Given the description of an element on the screen output the (x, y) to click on. 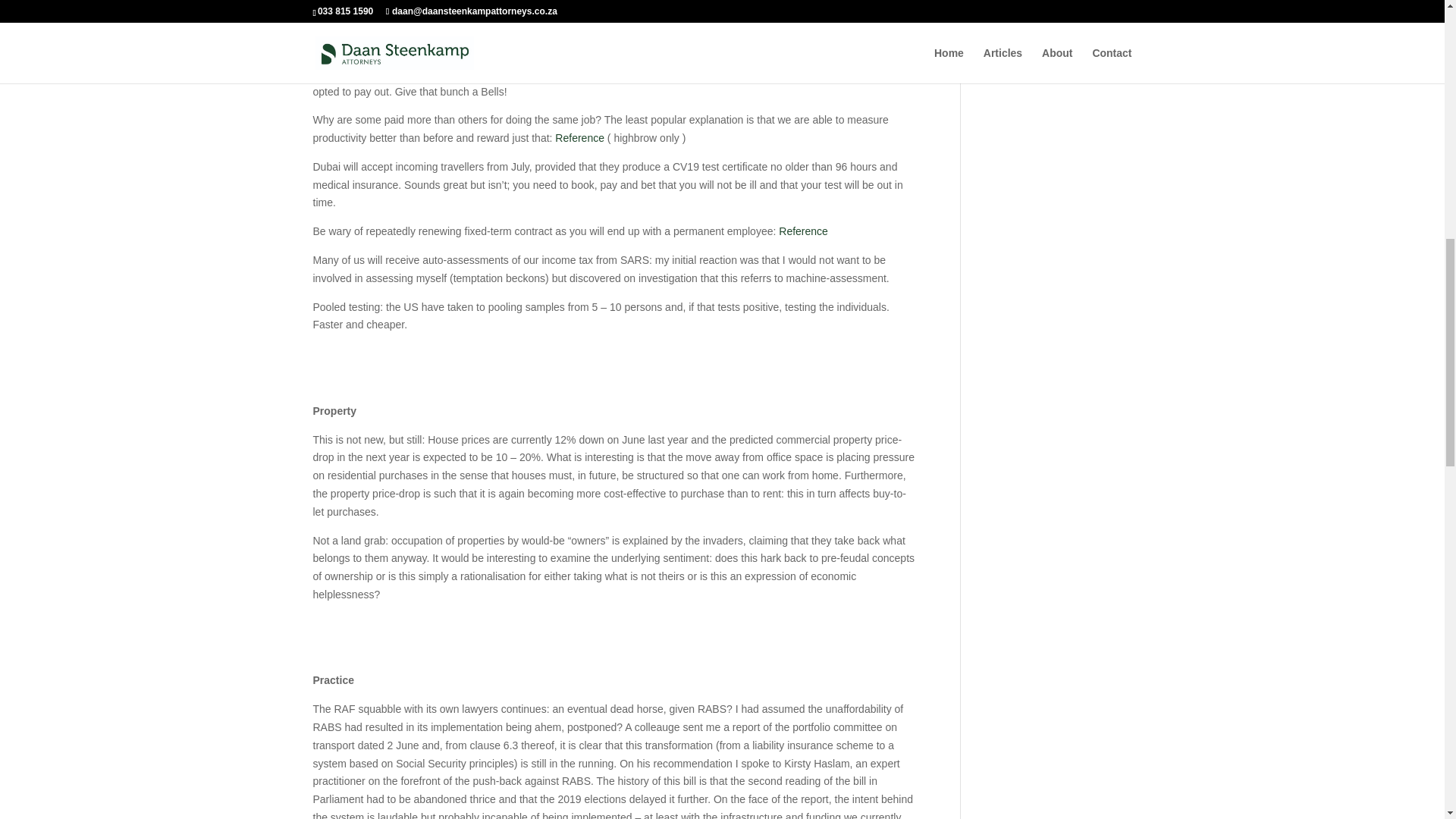
Reference (579, 137)
Reference (337, 26)
Reference (803, 231)
